Given the description of an element on the screen output the (x, y) to click on. 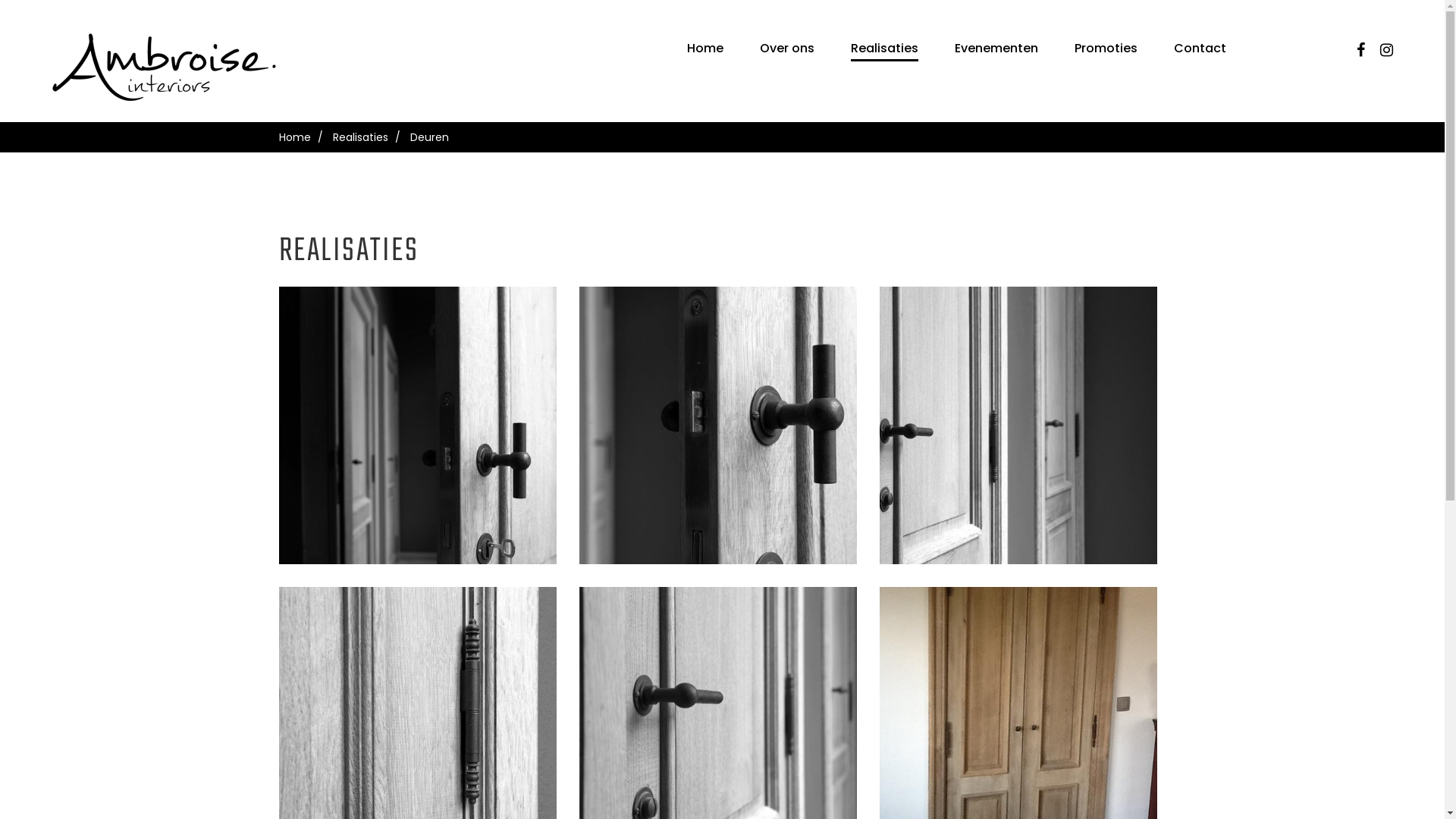
Facebook Element type: hover (1360, 49)
Home Element type: text (705, 48)
Instagram Element type: hover (1386, 49)
Realisaties Element type: text (884, 48)
Promoties Element type: text (1105, 48)
Ambroise Interiors Element type: hover (167, 66)
Realisaties Element type: text (359, 136)
Over ons Element type: text (786, 48)
Home Element type: text (294, 136)
Contact Element type: text (1199, 48)
Evenementen Element type: text (996, 48)
